Given the description of an element on the screen output the (x, y) to click on. 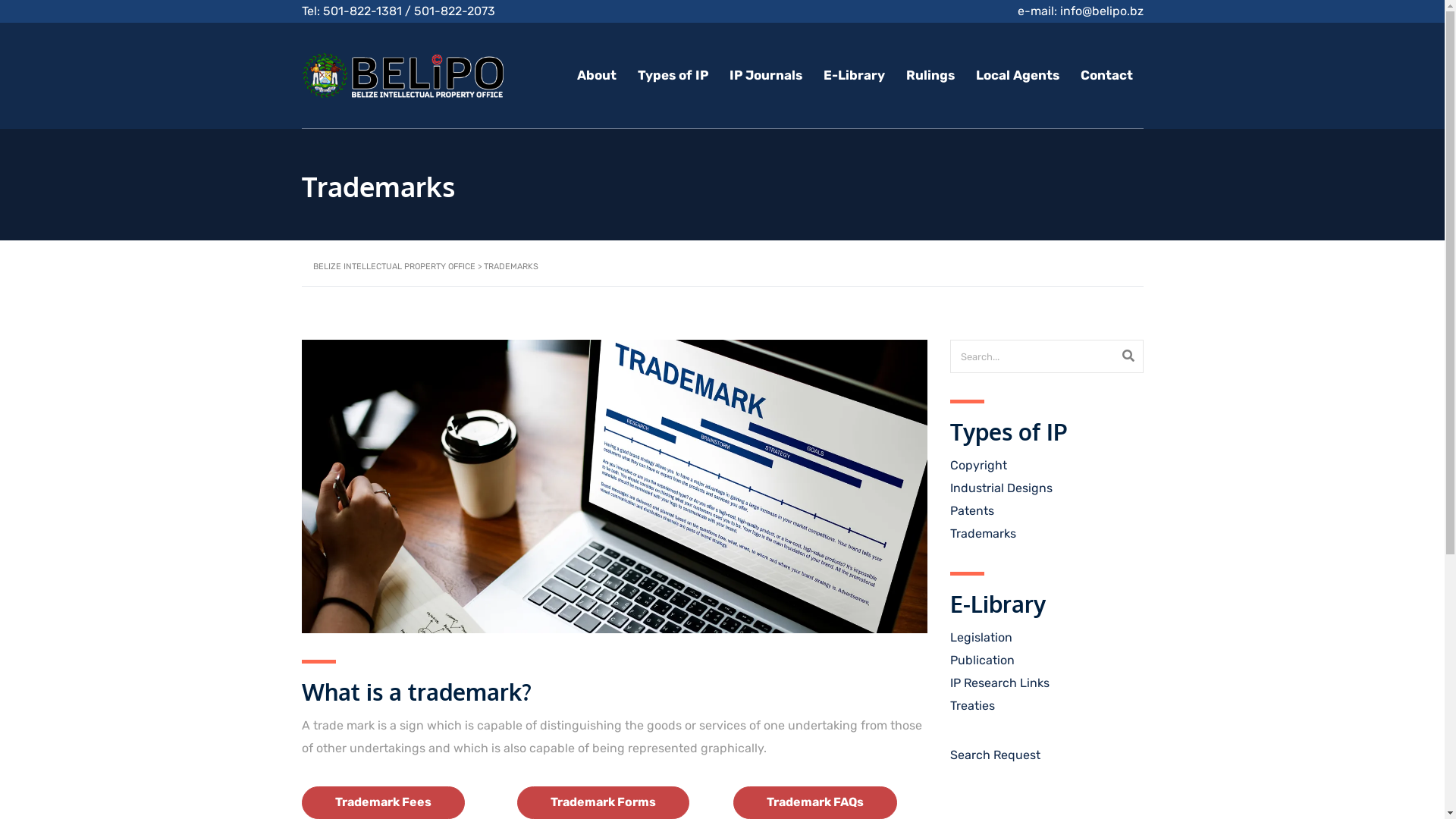
Treaties Element type: text (971, 705)
BELIZE INTELLECTUAL PROPERTY OFFICE Element type: text (393, 266)
Local Agents Element type: text (1016, 74)
Trademarks Element type: text (982, 533)
Contact Element type: text (1105, 74)
info@belipo.bz Element type: text (1101, 10)
IP Research Links Element type: text (998, 682)
501-822-1381 Element type: text (362, 10)
Industrial Designs Element type: text (1000, 487)
Patents Element type: text (971, 510)
Rulings Element type: text (929, 74)
501-822-2073 Element type: text (454, 10)
Copyright Element type: text (977, 465)
Publication Element type: text (981, 659)
Types of IP Element type: text (672, 74)
About Element type: text (595, 74)
IP Journals Element type: text (765, 74)
E-Library Element type: text (853, 74)
Legislation Element type: text (980, 637)
Search Request Element type: text (994, 754)
